Given the description of an element on the screen output the (x, y) to click on. 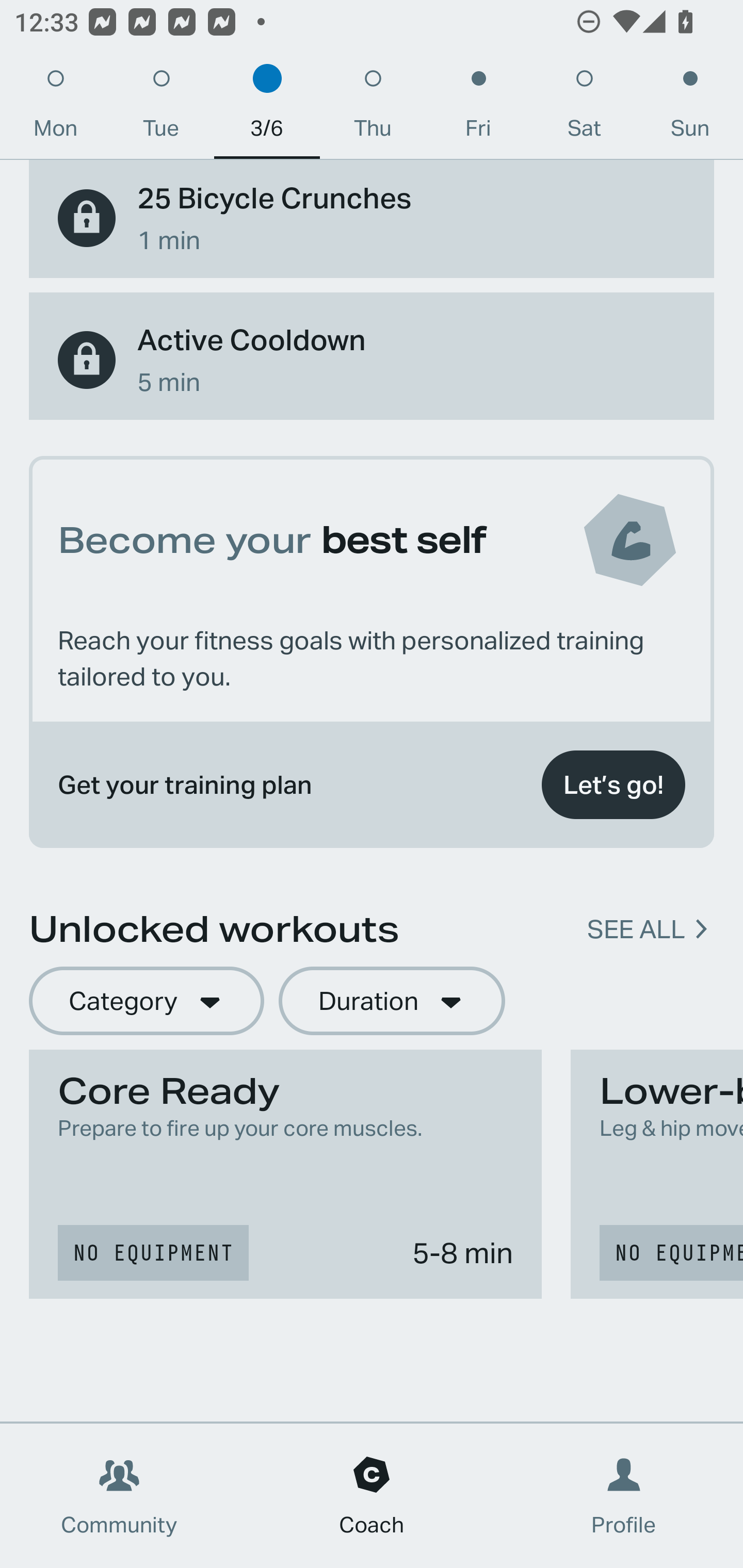
Mon (55, 108)
Tue (160, 108)
3/6 (266, 108)
Thu (372, 108)
Fri (478, 108)
Sat (584, 108)
Sun (690, 108)
25 Bicycle Crunches 1 min (371, 218)
Active Cooldown 5 min (371, 359)
Let’s go! (613, 784)
SEE ALL (635, 928)
Category (146, 1001)
Duration (391, 1001)
Community (119, 1495)
Profile (624, 1495)
